Given the description of an element on the screen output the (x, y) to click on. 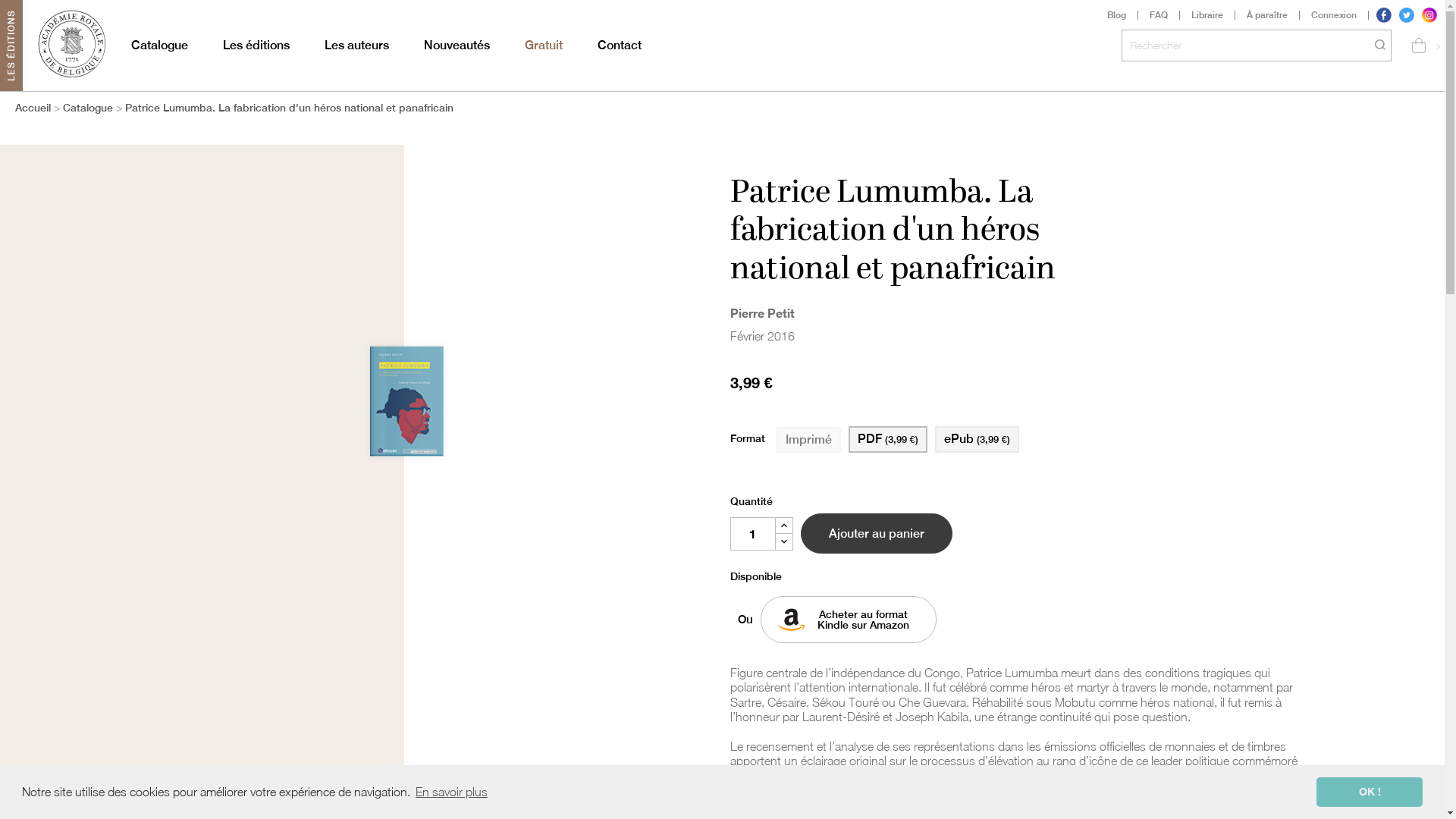
Catalogue Element type: text (87, 106)
Accueil Element type: text (32, 106)
Libraire Element type: text (1207, 14)
FAQ Element type: text (1158, 14)
Pierre Petit Element type: text (761, 312)
Acheter au format Kindle sur Amazon Element type: text (847, 619)
Gratuit Element type: text (543, 45)
Connexion Element type: text (1333, 14)
OK ! Element type: text (1369, 791)
> Element type: text (1421, 45)
Les auteurs Element type: text (356, 45)
Catalogue Element type: text (159, 45)
En savoir plus Element type: text (451, 791)
Blog Element type: text (1116, 14)
Contact Element type: text (619, 45)
Ajouter au panier Element type: text (876, 533)
